Given the description of an element on the screen output the (x, y) to click on. 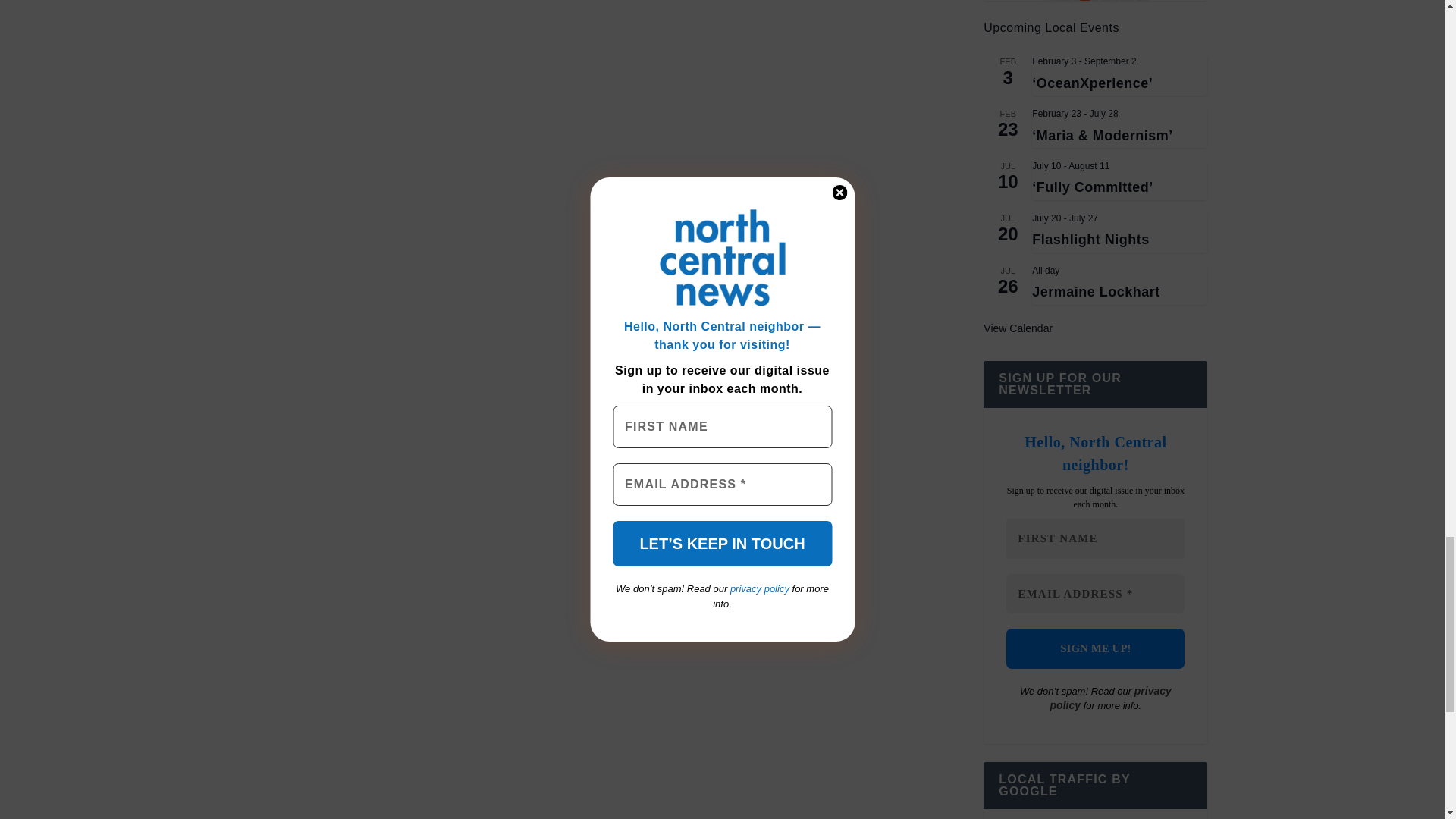
Sign me up! (1095, 648)
